Given the description of an element on the screen output the (x, y) to click on. 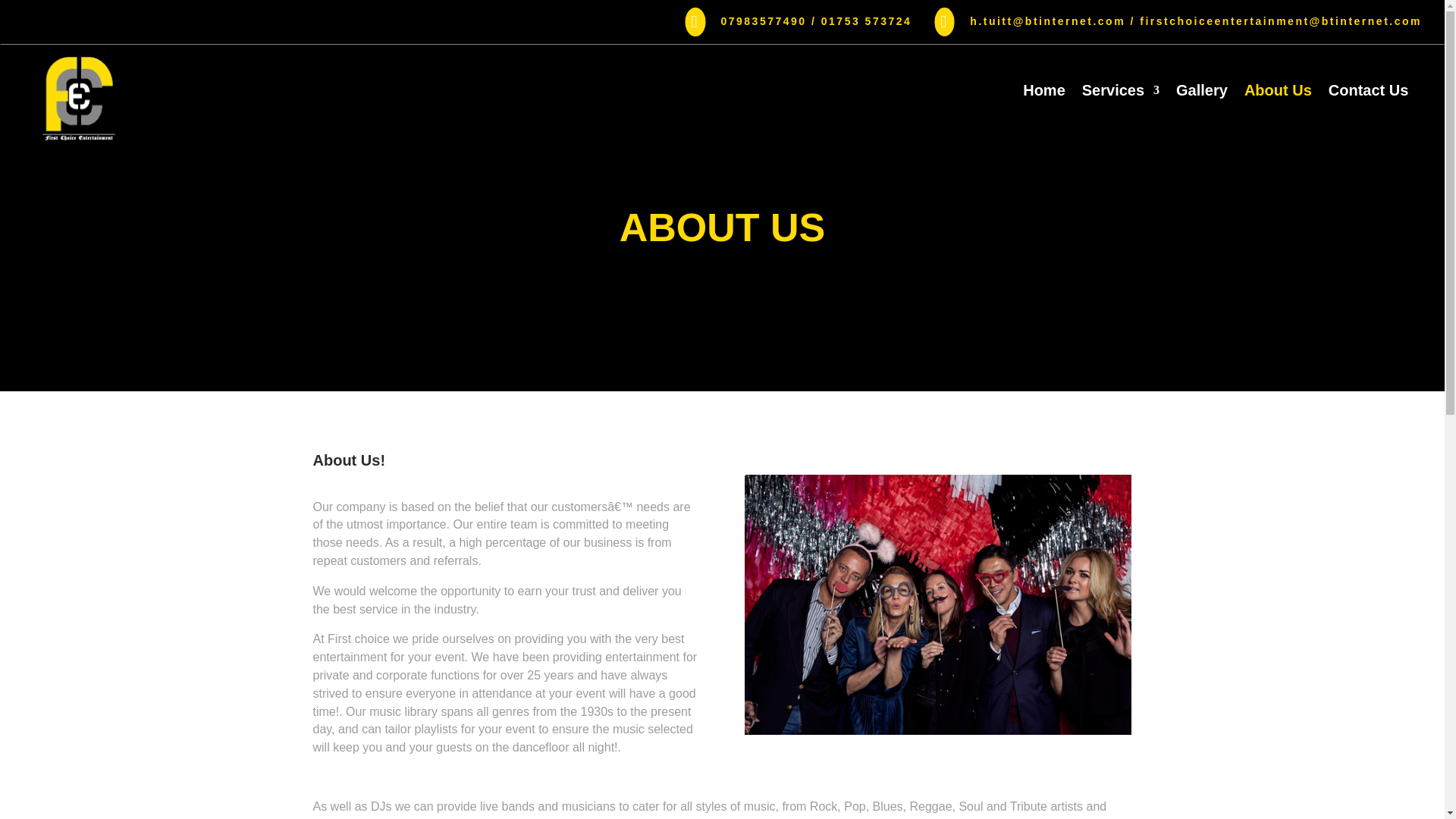
Contact Us (1368, 93)
Services (1119, 93)
Home (1044, 93)
About Us (1277, 93)
58 (79, 98)
Gallery (1201, 93)
